Given the description of an element on the screen output the (x, y) to click on. 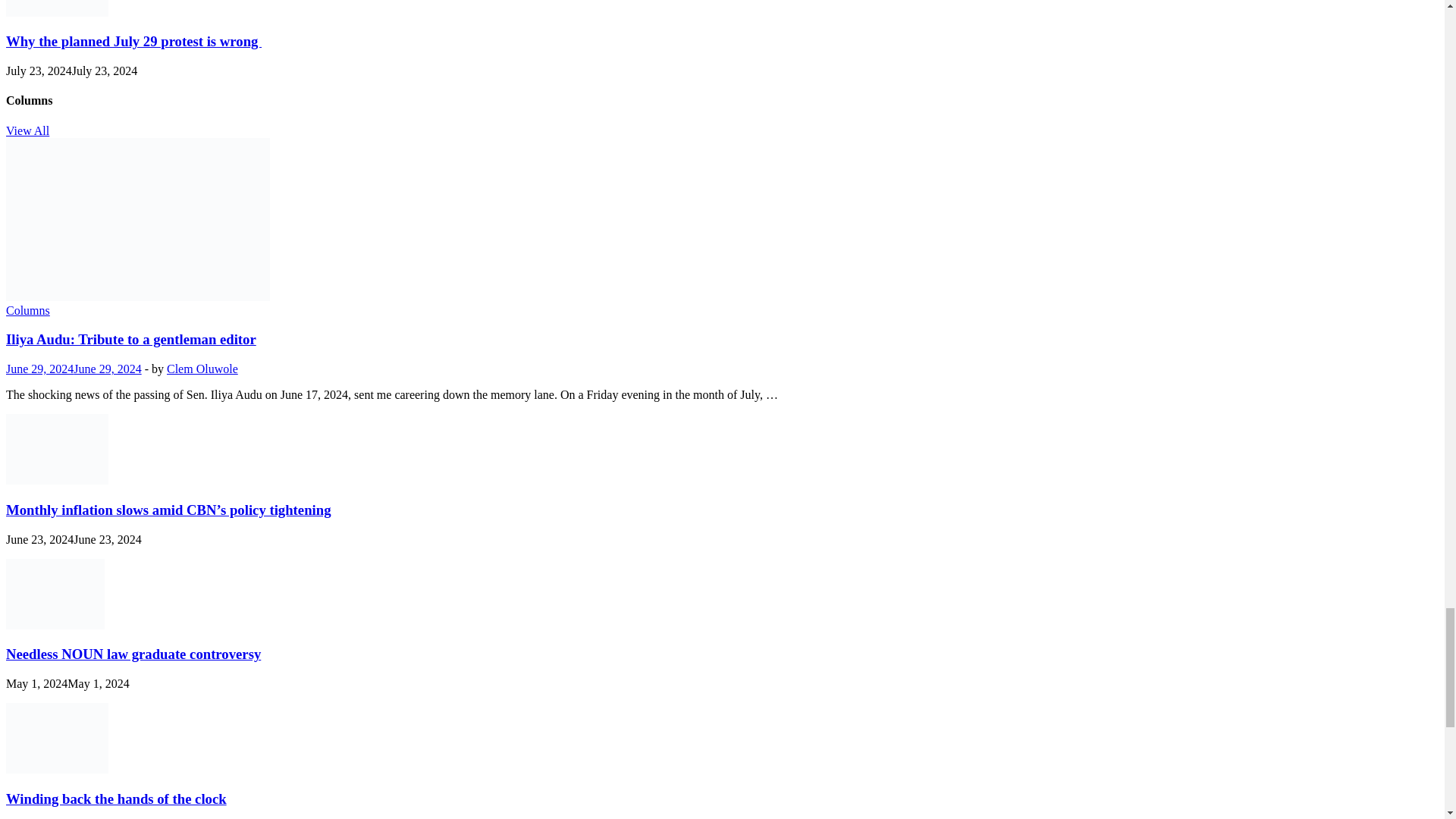
Iliya Audu: Tribute to a gentleman editor (137, 296)
